Given the description of an element on the screen output the (x, y) to click on. 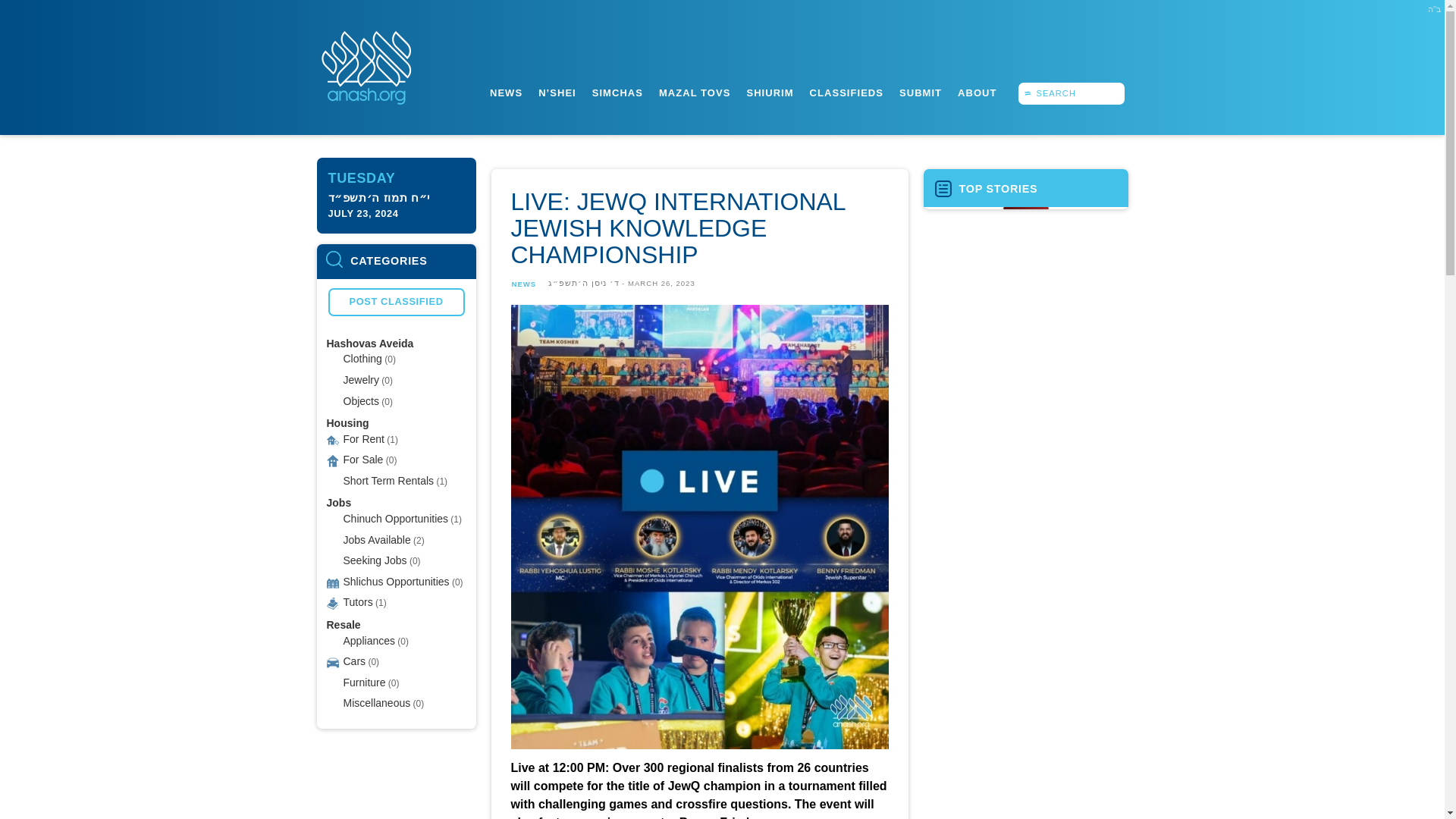
SHIURIM (769, 93)
Jewelry (360, 379)
Short Term Rentals (387, 480)
Chinuch Opportunities (395, 518)
Seeking Jobs (374, 560)
Jobs Available (376, 539)
Tutors (357, 601)
ABOUT (976, 93)
NEWS (505, 93)
Housing (347, 422)
Resale (342, 624)
SUBMIT (919, 93)
For Rent (363, 438)
CATEGORIES (396, 261)
Appliances (368, 640)
